Given the description of an element on the screen output the (x, y) to click on. 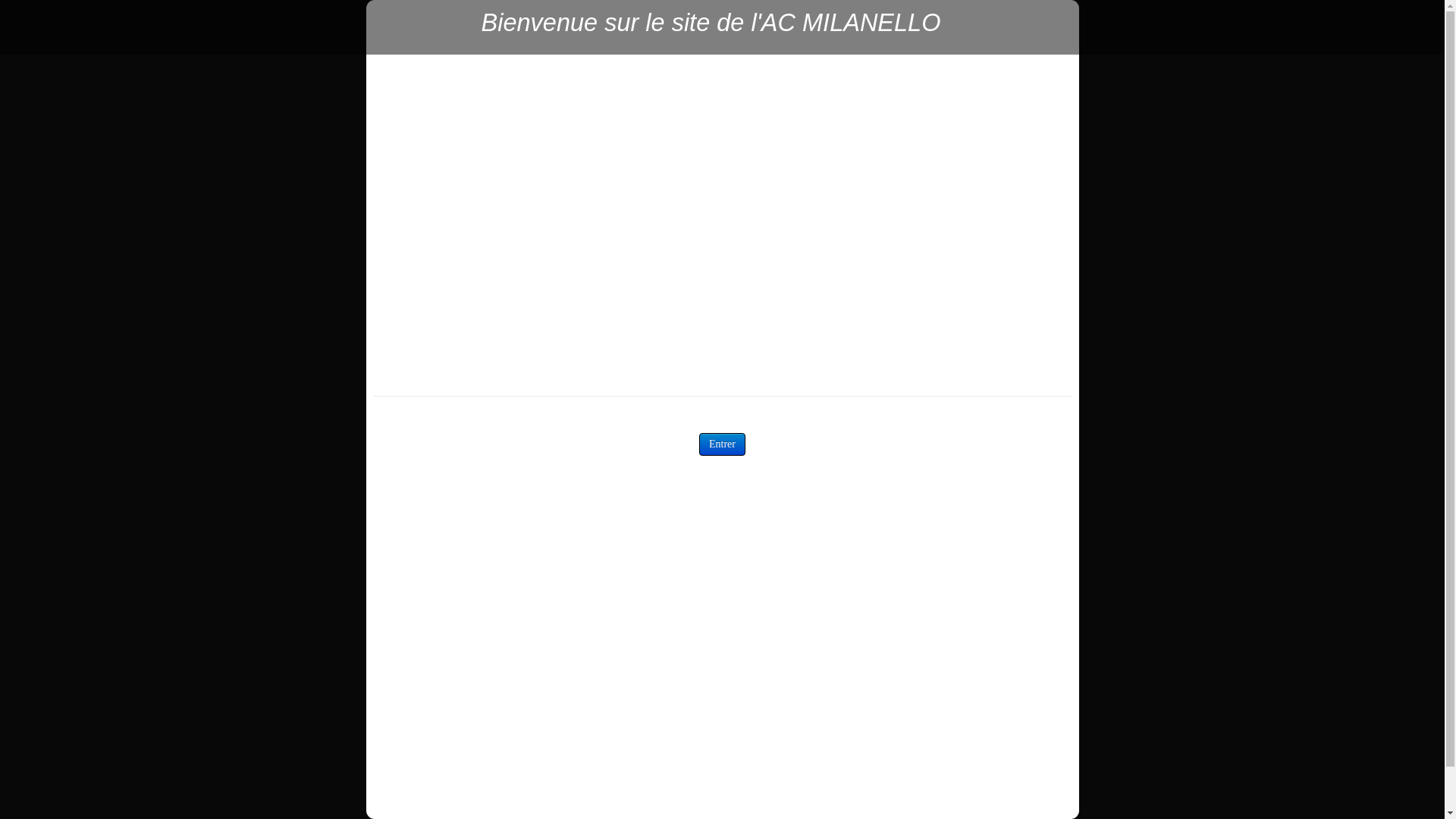
Entrer Element type: text (722, 443)
